Given the description of an element on the screen output the (x, y) to click on. 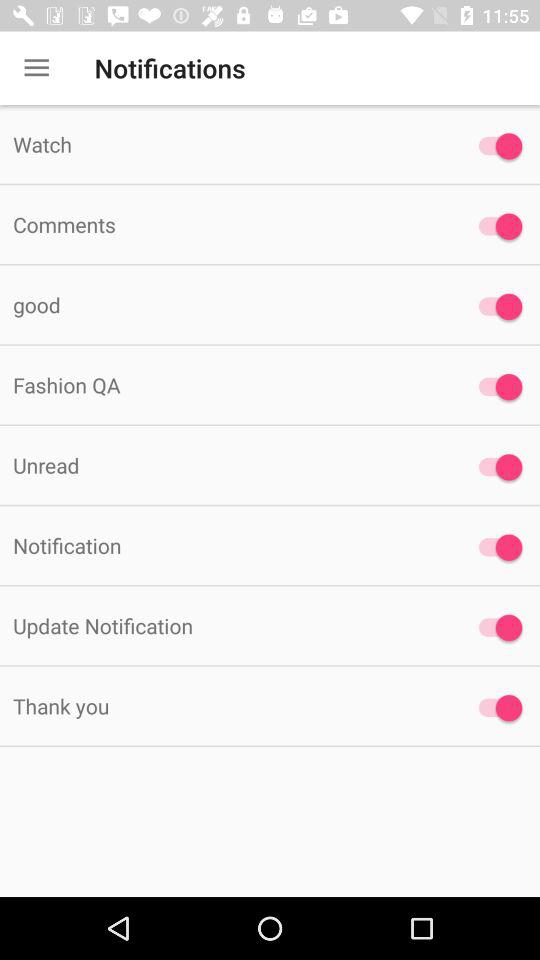
swipe until the update notification icon (225, 625)
